Given the description of an element on the screen output the (x, y) to click on. 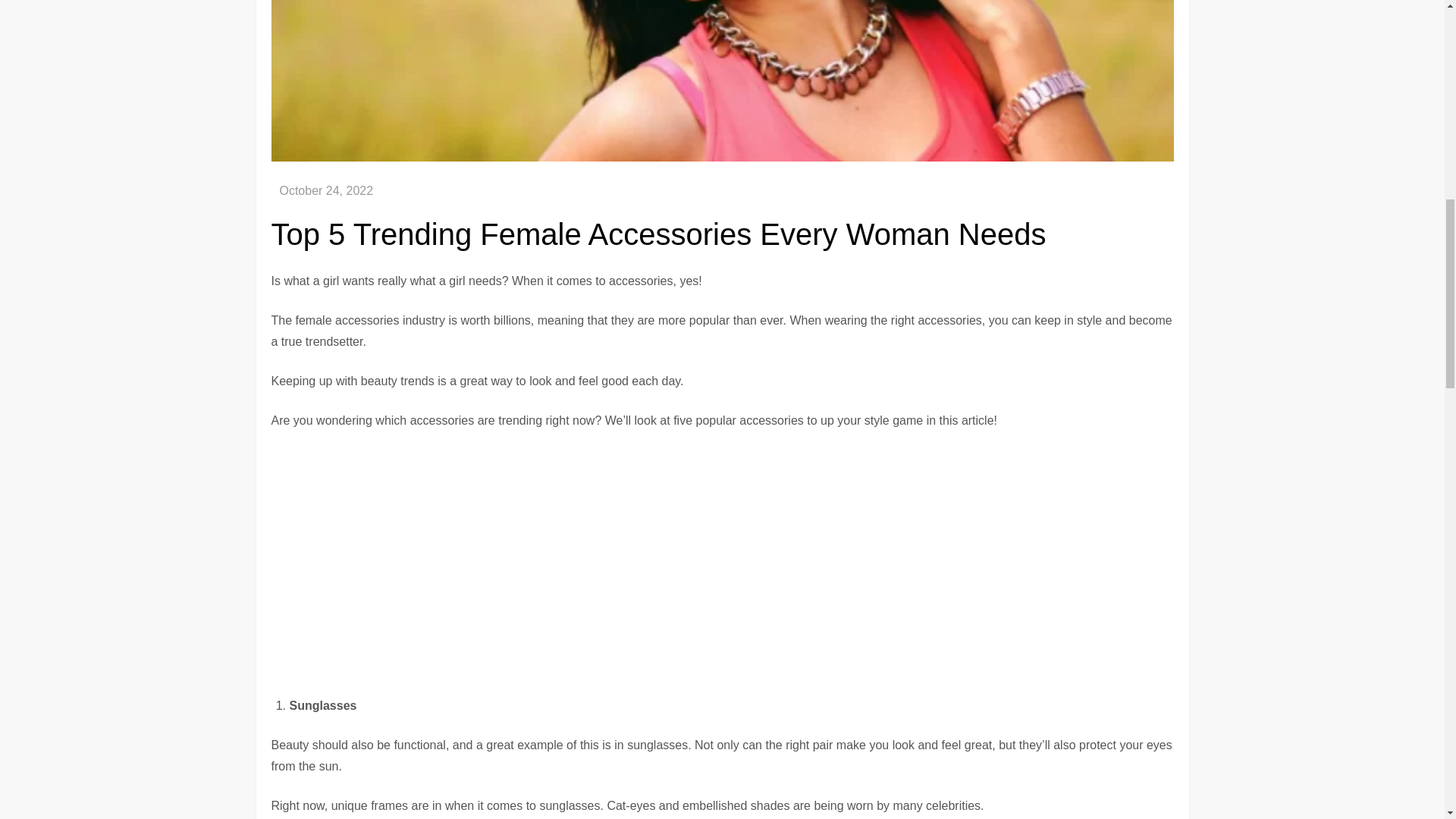
October 24, 2022 (325, 190)
